Given the description of an element on the screen output the (x, y) to click on. 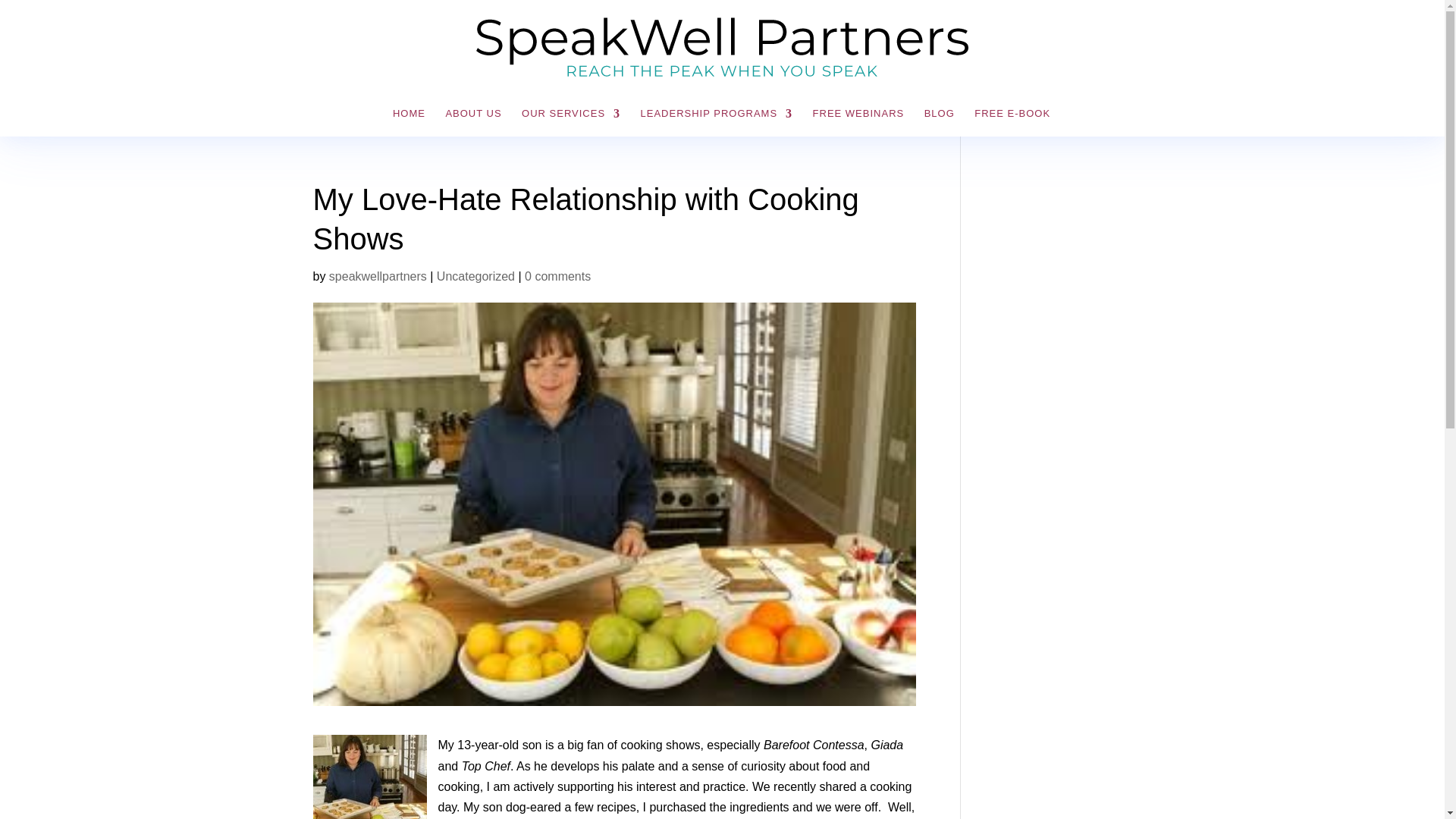
speakwellpartners (377, 276)
Posts by speakwellpartners (377, 276)
ABOUT US (472, 122)
OUR SERVICES (570, 122)
FREE WEBINARS (858, 122)
HOME (409, 122)
Uncategorized (475, 276)
0 comments (557, 276)
LEADERSHIP PROGRAMS (716, 122)
BLOG (939, 122)
